Given the description of an element on the screen output the (x, y) to click on. 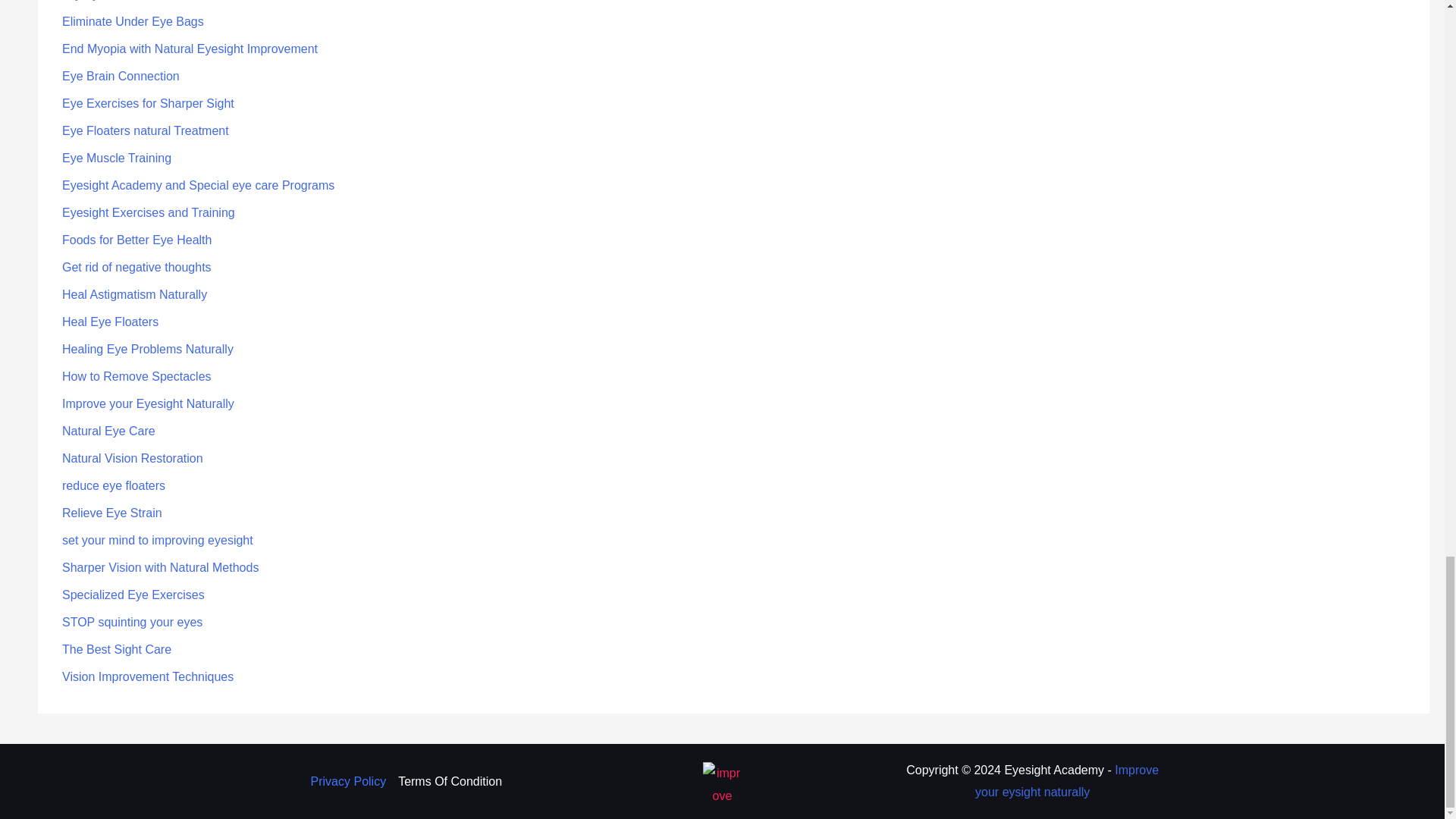
Heal Astigmatism Naturally (134, 294)
End Myopia with Natural Eyesight Improvement (189, 48)
Eye Exercises for Sharper Sight (148, 103)
Eye Muscle Training (116, 157)
Eliminate Under Eye Bags (132, 21)
Dry Eyes (87, 0)
Heal Eye Floaters (110, 321)
Eye Floaters natural Treatment (145, 130)
Eyesight Exercises and Training (148, 212)
Eyesight Academy and Special eye care Programs (198, 185)
